Given the description of an element on the screen output the (x, y) to click on. 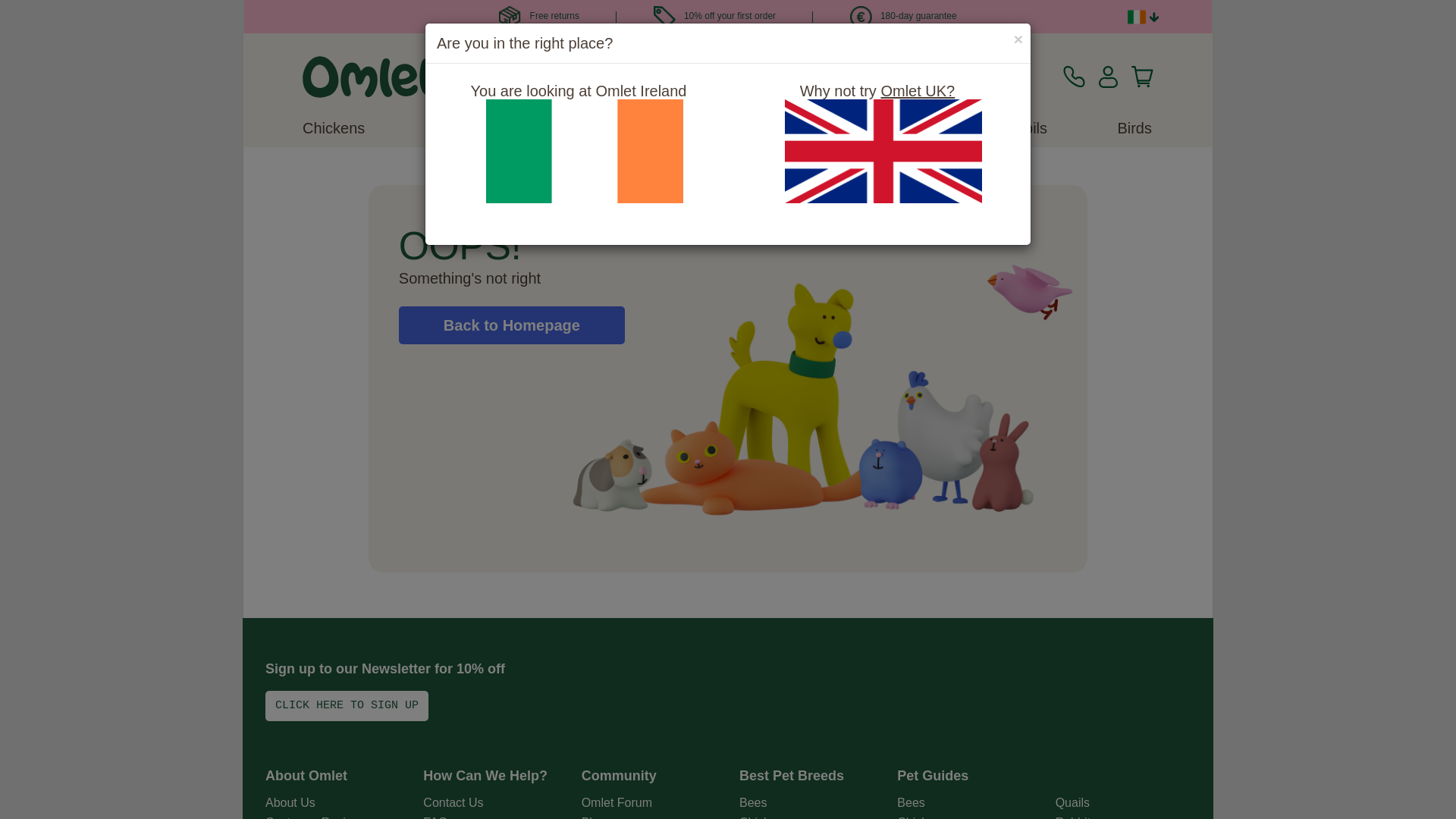
Basket (1142, 76)
Returns icon (861, 16)
Chickens (333, 127)
Free returns (539, 15)
Discount icon (664, 16)
180-day guarantee (903, 15)
Omlet (370, 76)
Contact us (1073, 76)
Shipping (510, 16)
